Given the description of an element on the screen output the (x, y) to click on. 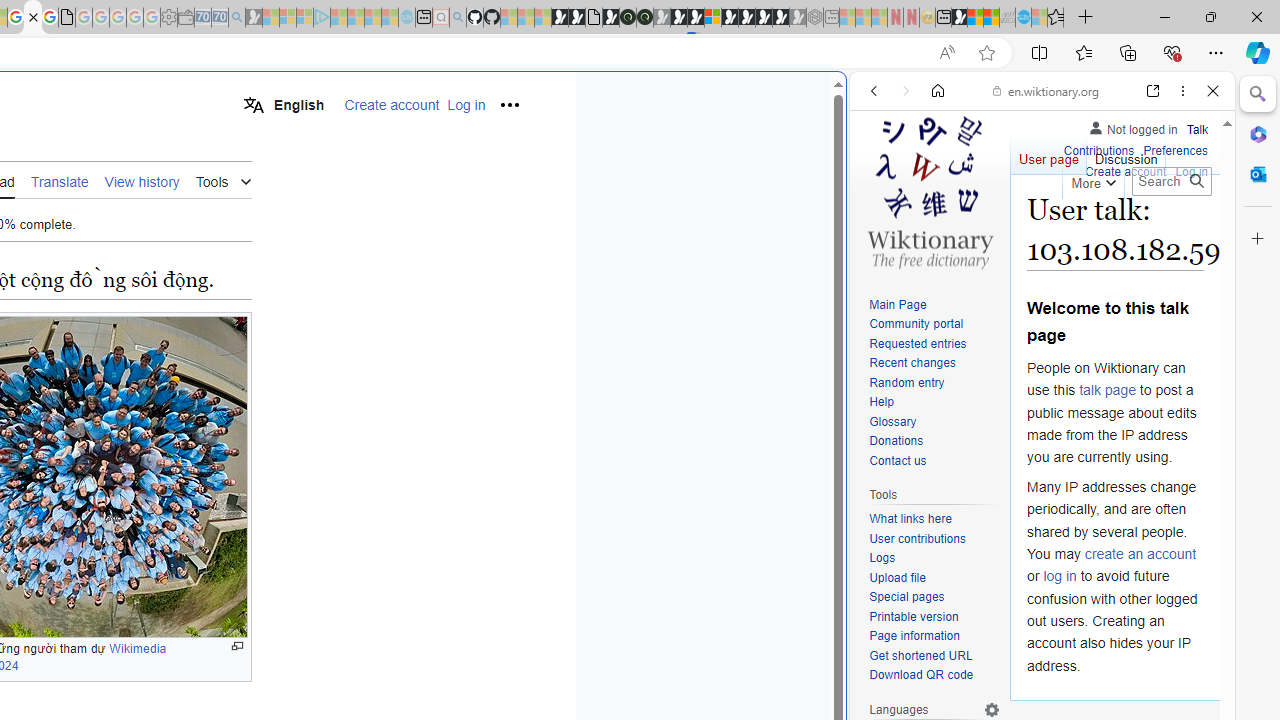
Glossary (934, 421)
What links here (910, 519)
Upload file (934, 578)
Tabs you've opened (276, 265)
Main Page (897, 303)
